Given the description of an element on the screen output the (x, y) to click on. 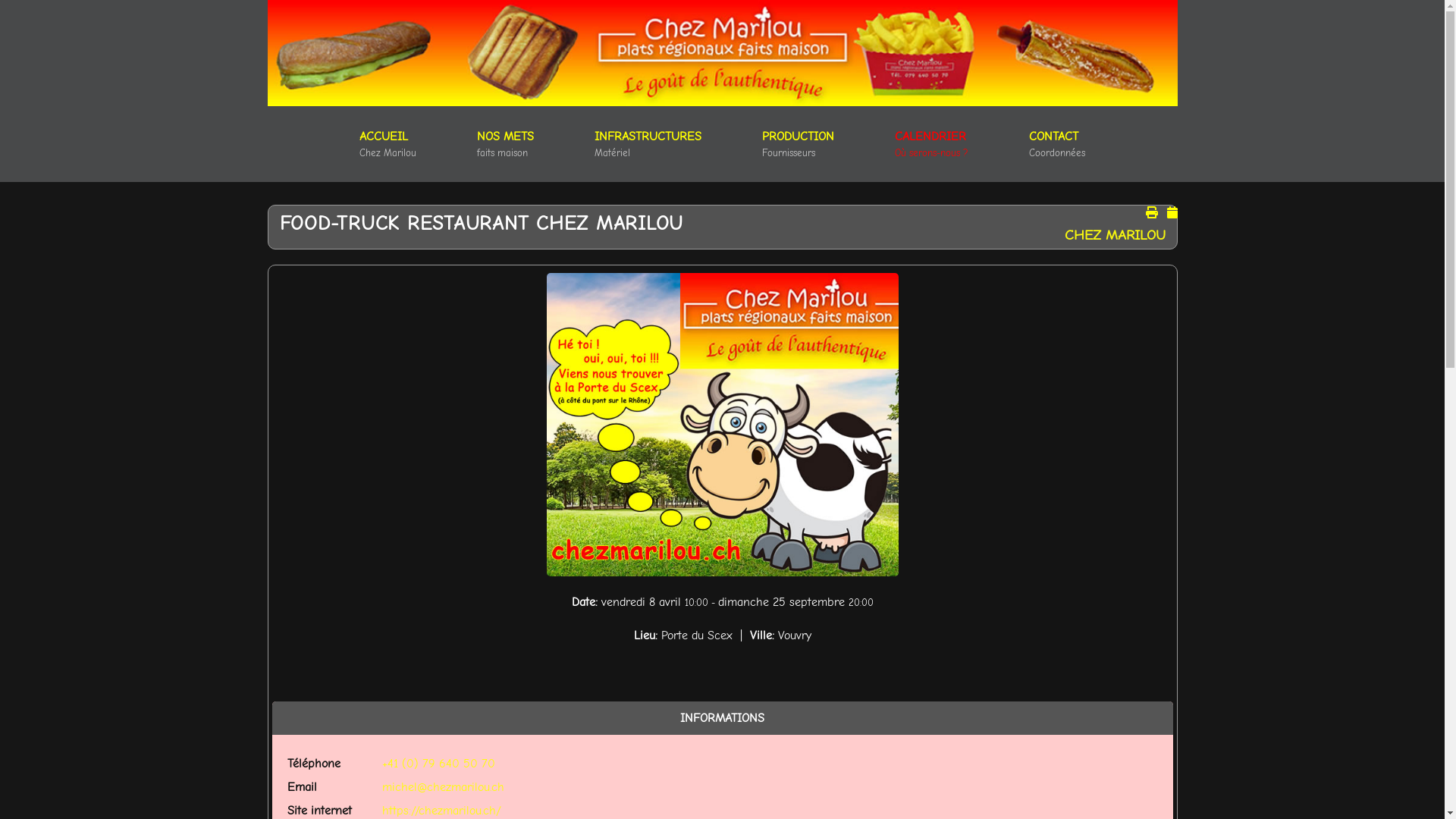
PRODUCTION
Fournisseurs Element type: text (797, 144)
+41 (0) 79 640 50 70 Element type: text (438, 763)
ACCUEIL
Chez Marilou Element type: text (387, 144)
NOS METS
faits maison Element type: text (505, 144)
michel@chezmarilou.ch Element type: text (443, 786)
https://chezmarilou.ch/ Element type: text (441, 810)
